Given the description of an element on the screen output the (x, y) to click on. 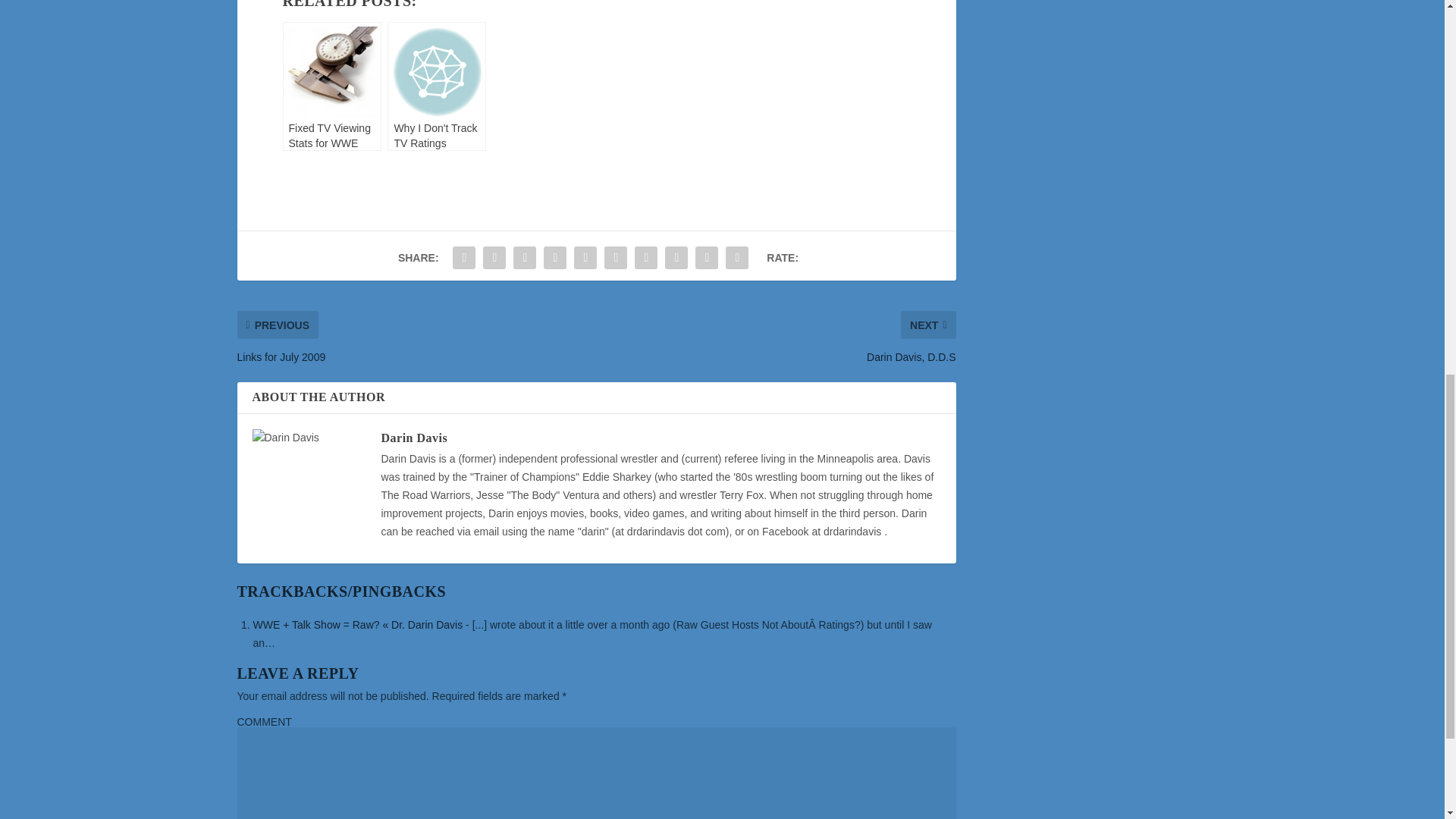
Share "Raw Guest Hosts Not About Ratings?" via Facebook (463, 257)
Share "Raw Guest Hosts Not About Ratings?" via LinkedIn (614, 257)
Darin Davis (413, 437)
Share "Raw Guest Hosts Not About Ratings?" via Twitter (494, 257)
Share "Raw Guest Hosts Not About Ratings?" via Pinterest (584, 257)
Share "Raw Guest Hosts Not About Ratings?" via Tumblr (555, 257)
